Given the description of an element on the screen output the (x, y) to click on. 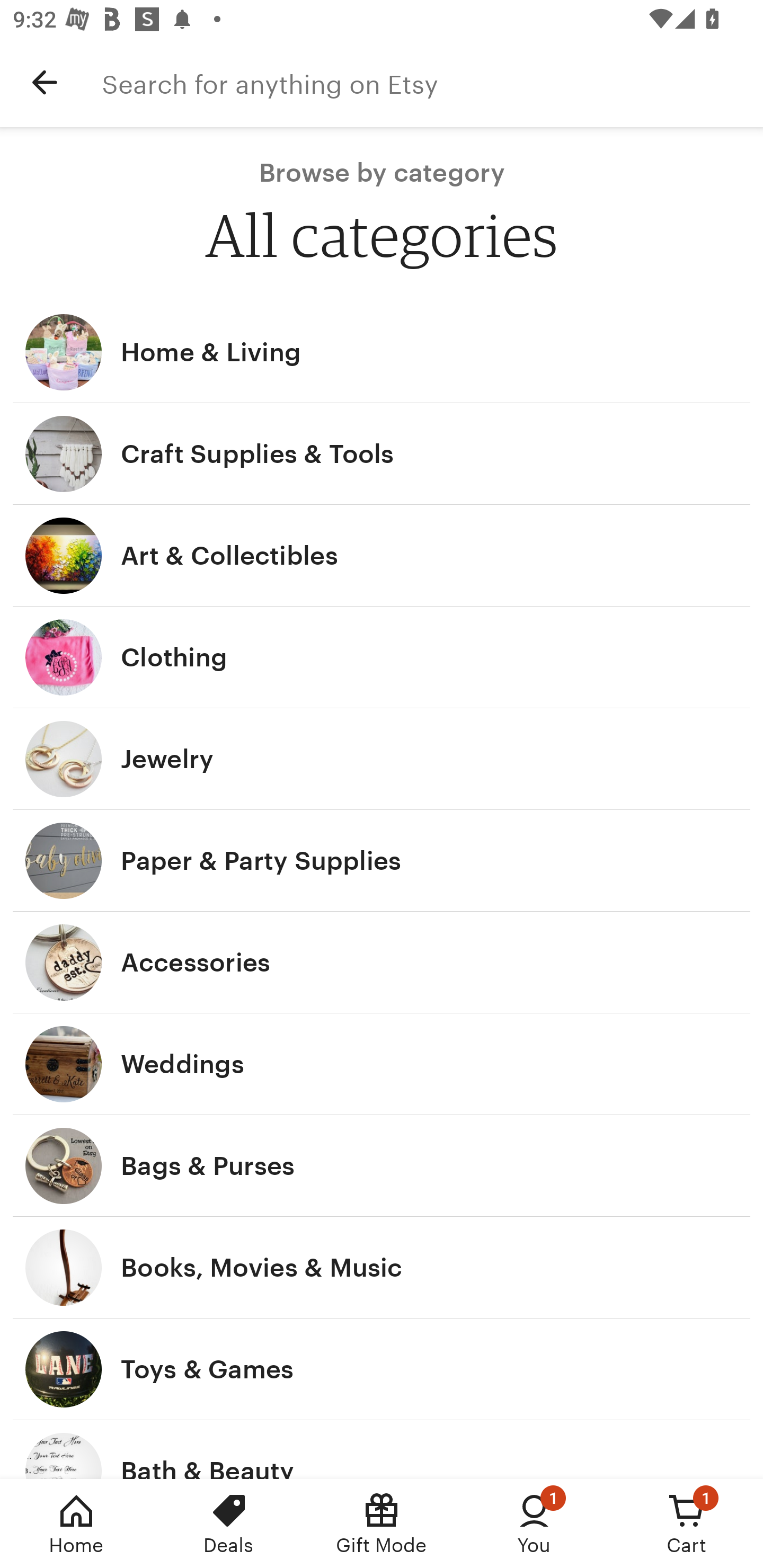
Navigate up (44, 82)
Search for anything on Etsy (432, 82)
Home & Living (381, 351)
Craft Supplies & Tools (381, 453)
Art & Collectibles (381, 555)
Clothing (381, 657)
Jewelry (381, 759)
Paper & Party Supplies (381, 860)
Accessories (381, 961)
Weddings (381, 1063)
Bags & Purses (381, 1165)
Books, Movies & Music (381, 1267)
Toys & Games (381, 1369)
Home (76, 1523)
Gift Mode (381, 1523)
You, 1 new notification You (533, 1523)
Cart, 1 new notification Cart (686, 1523)
